Given the description of an element on the screen output the (x, y) to click on. 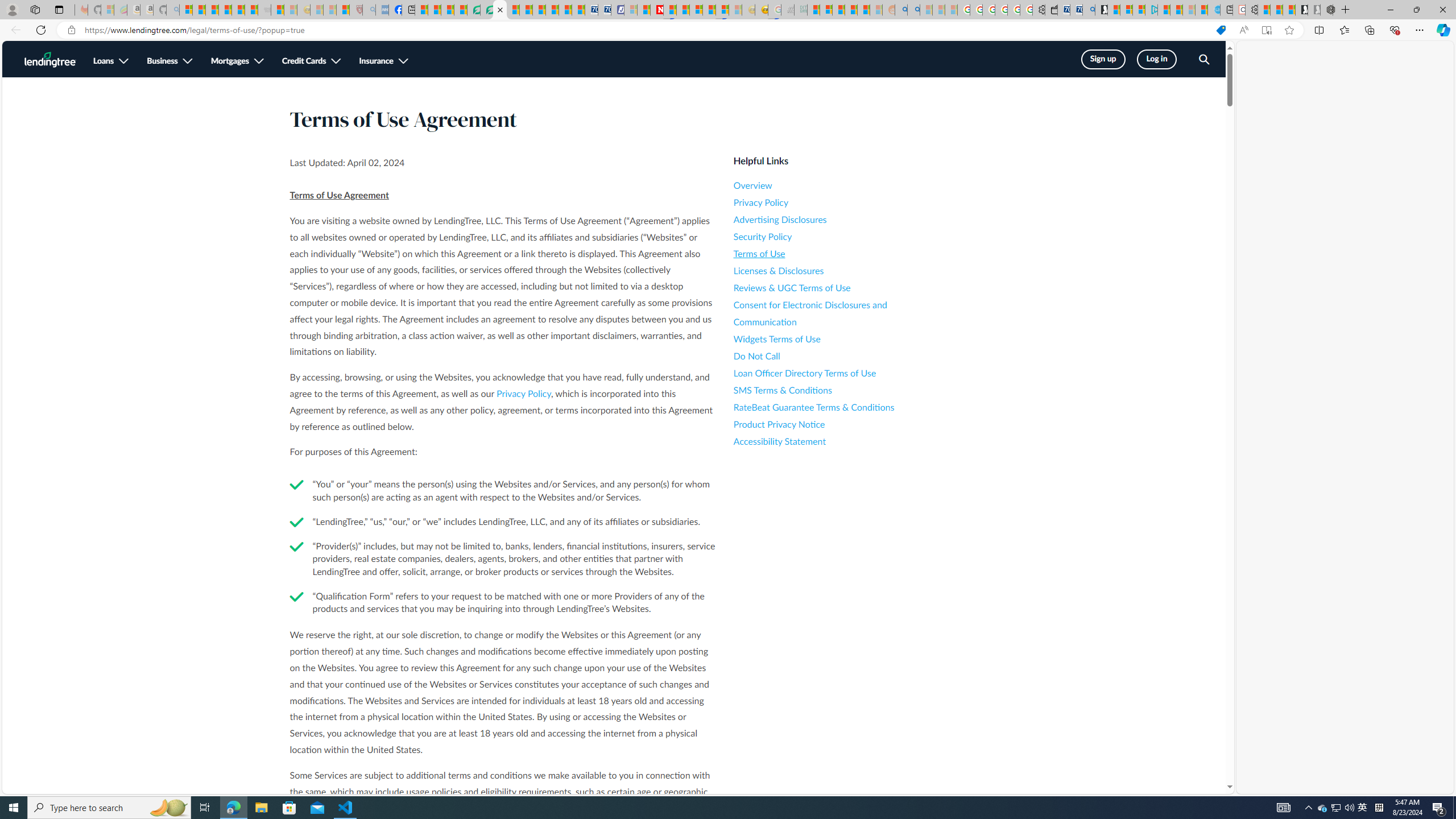
Overview (836, 185)
